Given the description of an element on the screen output the (x, y) to click on. 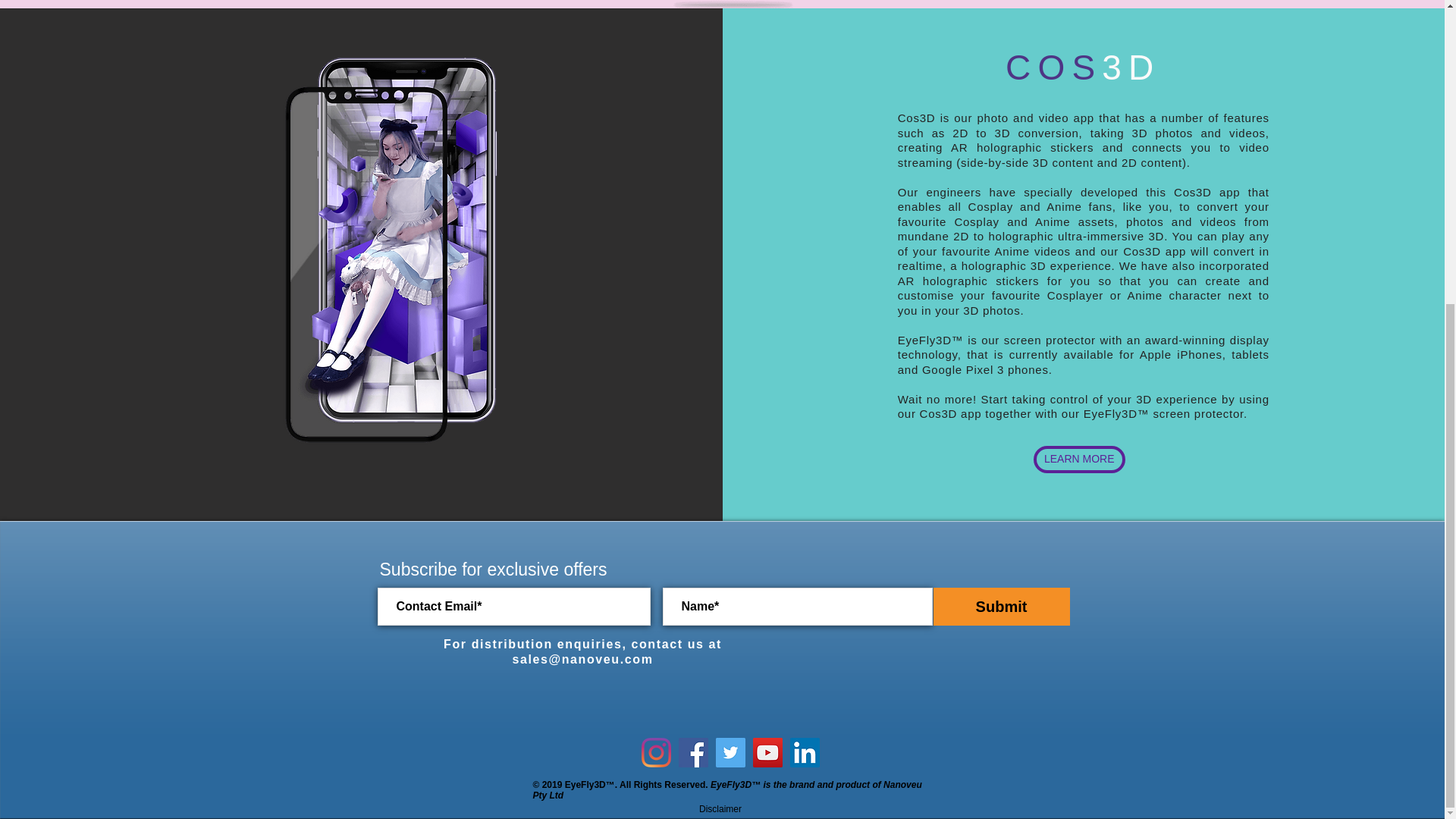
LEARN MORE (1079, 459)
Submit (1000, 606)
Disclaimer (719, 808)
